Given the description of an element on the screen output the (x, y) to click on. 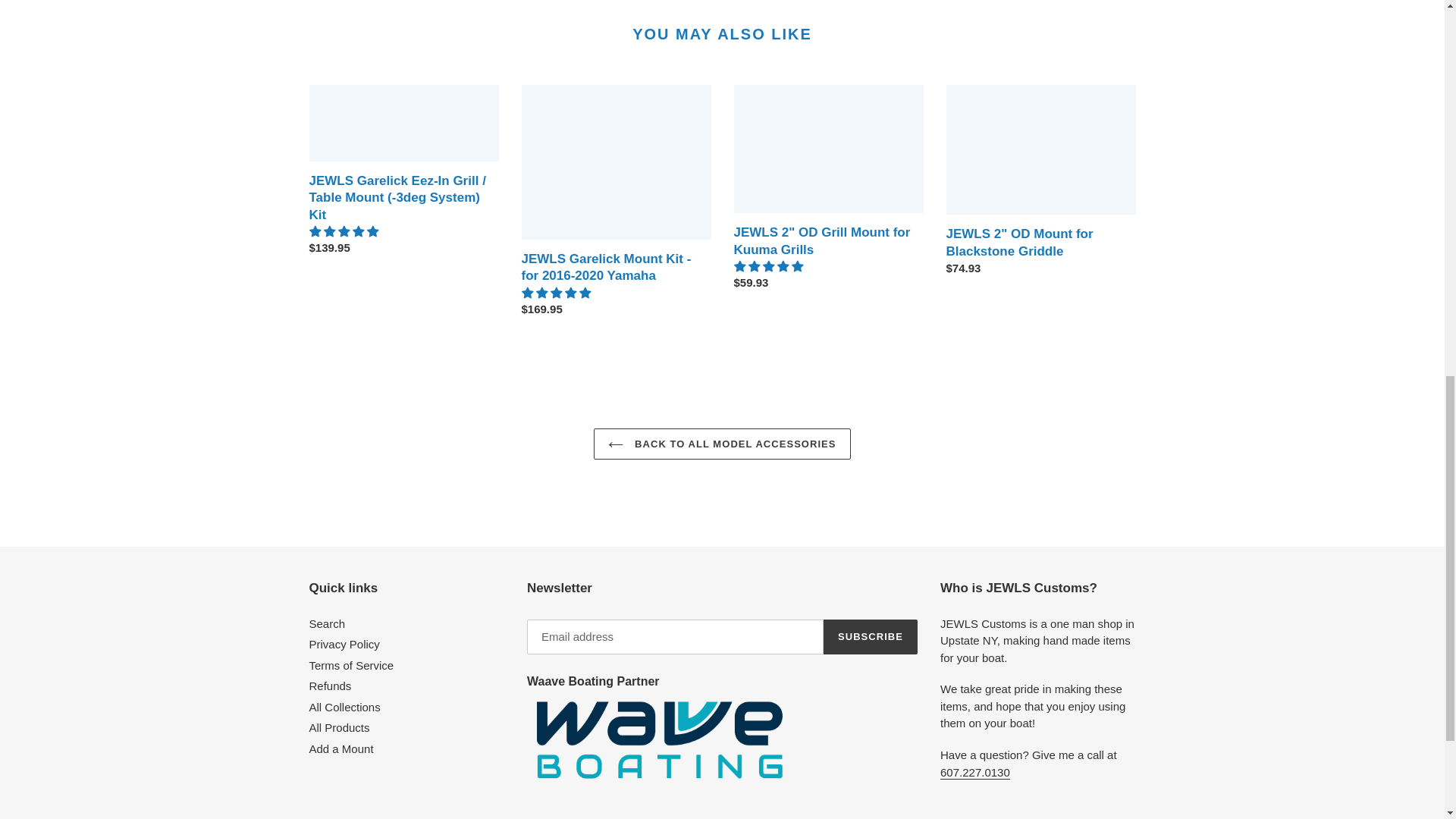
BACK TO ALL MODEL ACCESSORIES (722, 444)
JEWLS 2" OD Mount for Blackstone Griddle (1040, 184)
JEWLS 2" OD Grill Mount for Kuuma Grills (828, 191)
